Given the description of an element on the screen output the (x, y) to click on. 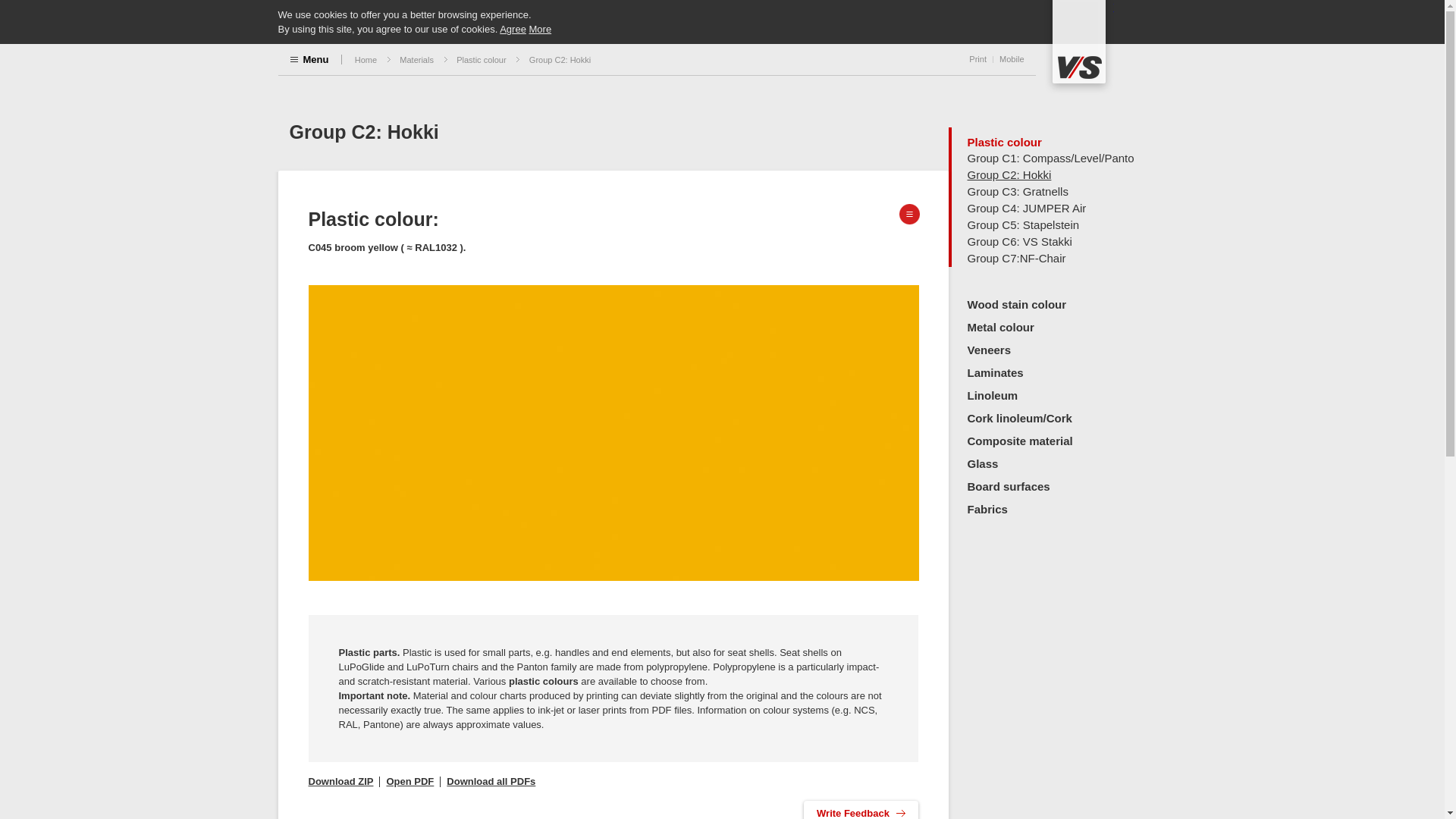
VS (1078, 47)
Home (366, 58)
Mobile (1010, 58)
Plastic colour (481, 58)
Materials (415, 58)
Agree (512, 29)
More (540, 29)
Print (978, 58)
Group C2: Hokki (560, 58)
Menu (309, 58)
